Given the description of an element on the screen output the (x, y) to click on. 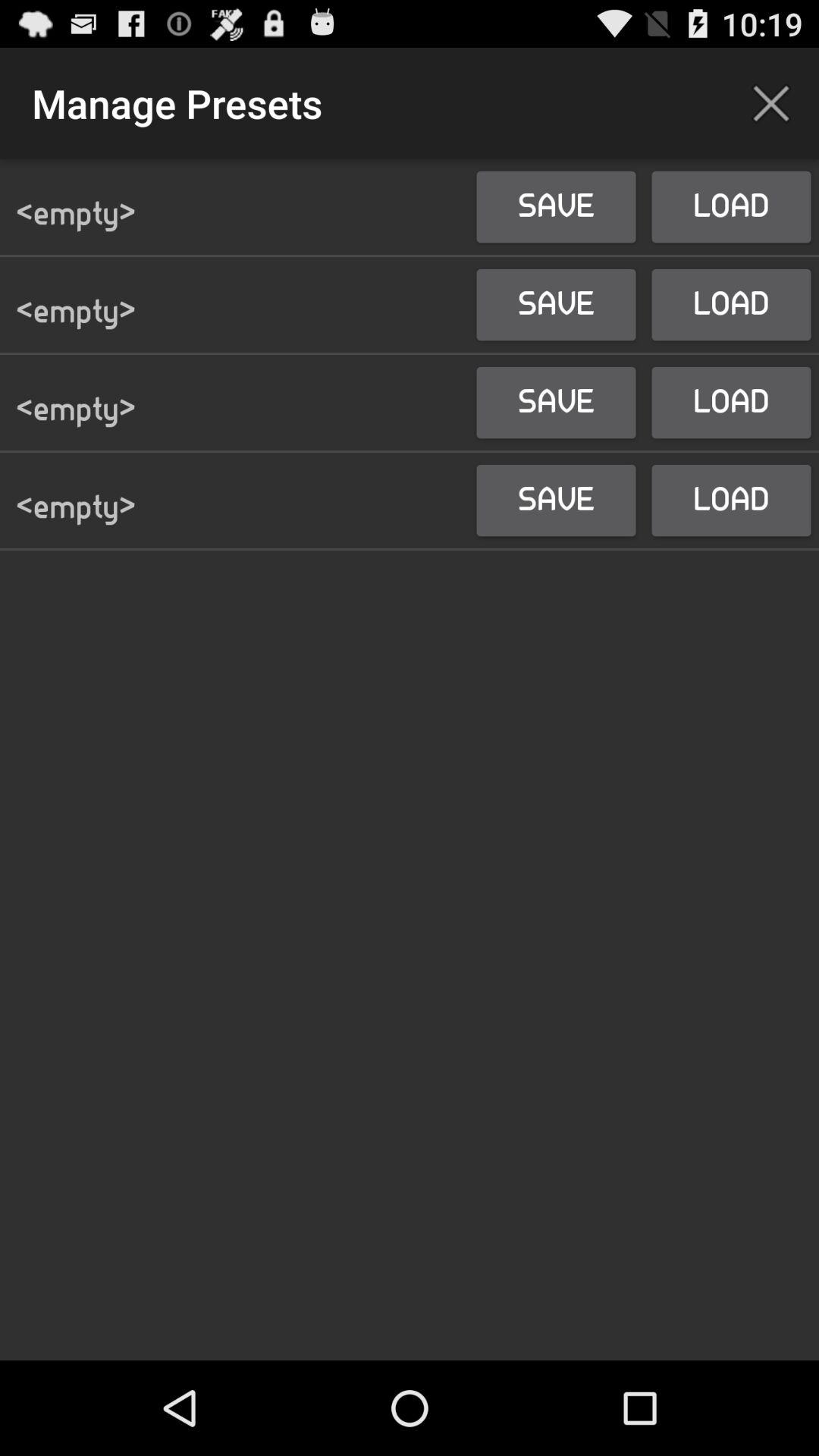
select button next to the save (771, 103)
